Given the description of an element on the screen output the (x, y) to click on. 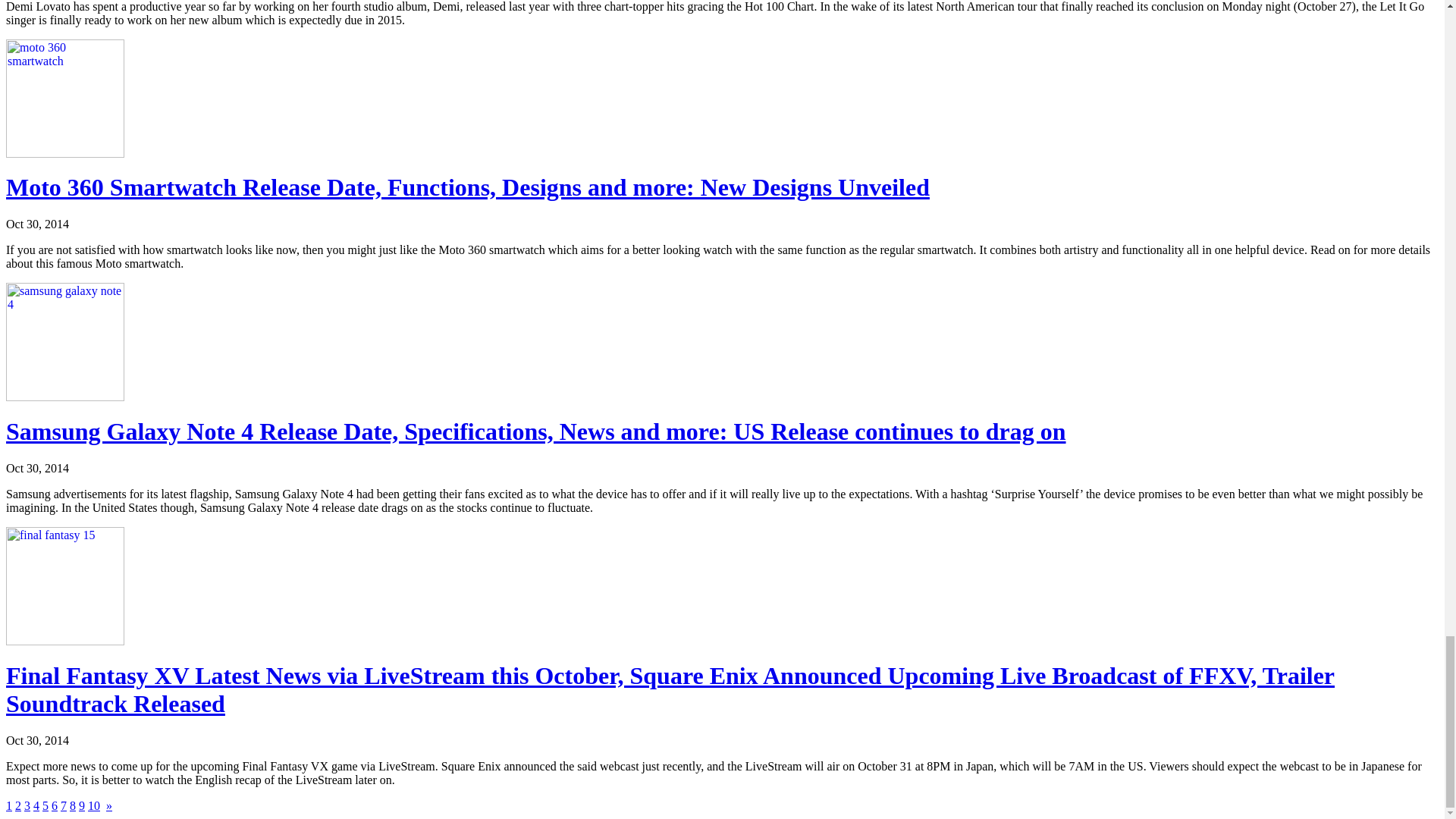
10 (93, 805)
